Given the description of an element on the screen output the (x, y) to click on. 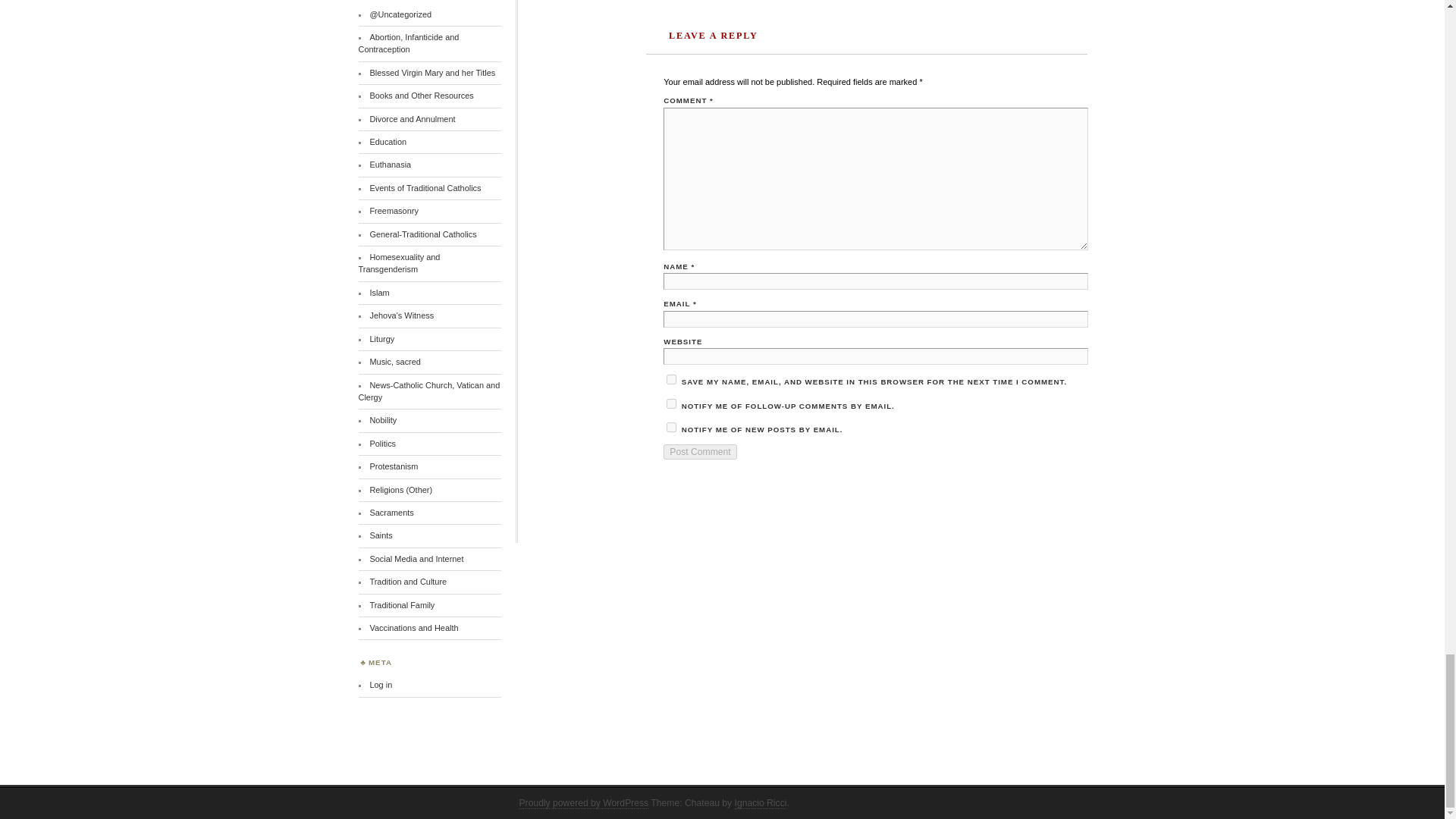
Post Comment (699, 451)
subscribe (671, 427)
yes (671, 379)
Post Comment (699, 451)
subscribe (671, 403)
